Given the description of an element on the screen output the (x, y) to click on. 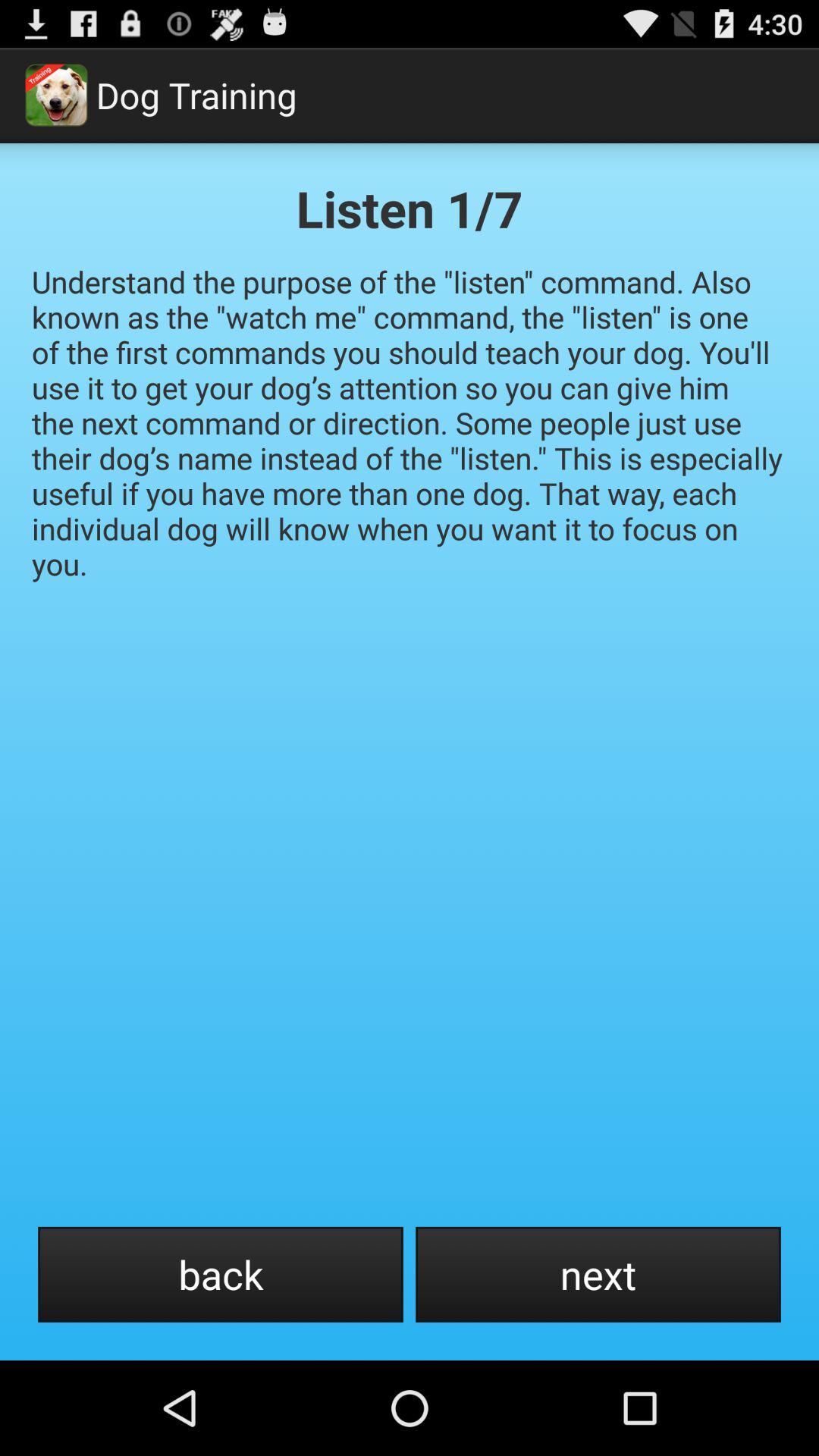
click button next to the back icon (597, 1274)
